Given the description of an element on the screen output the (x, y) to click on. 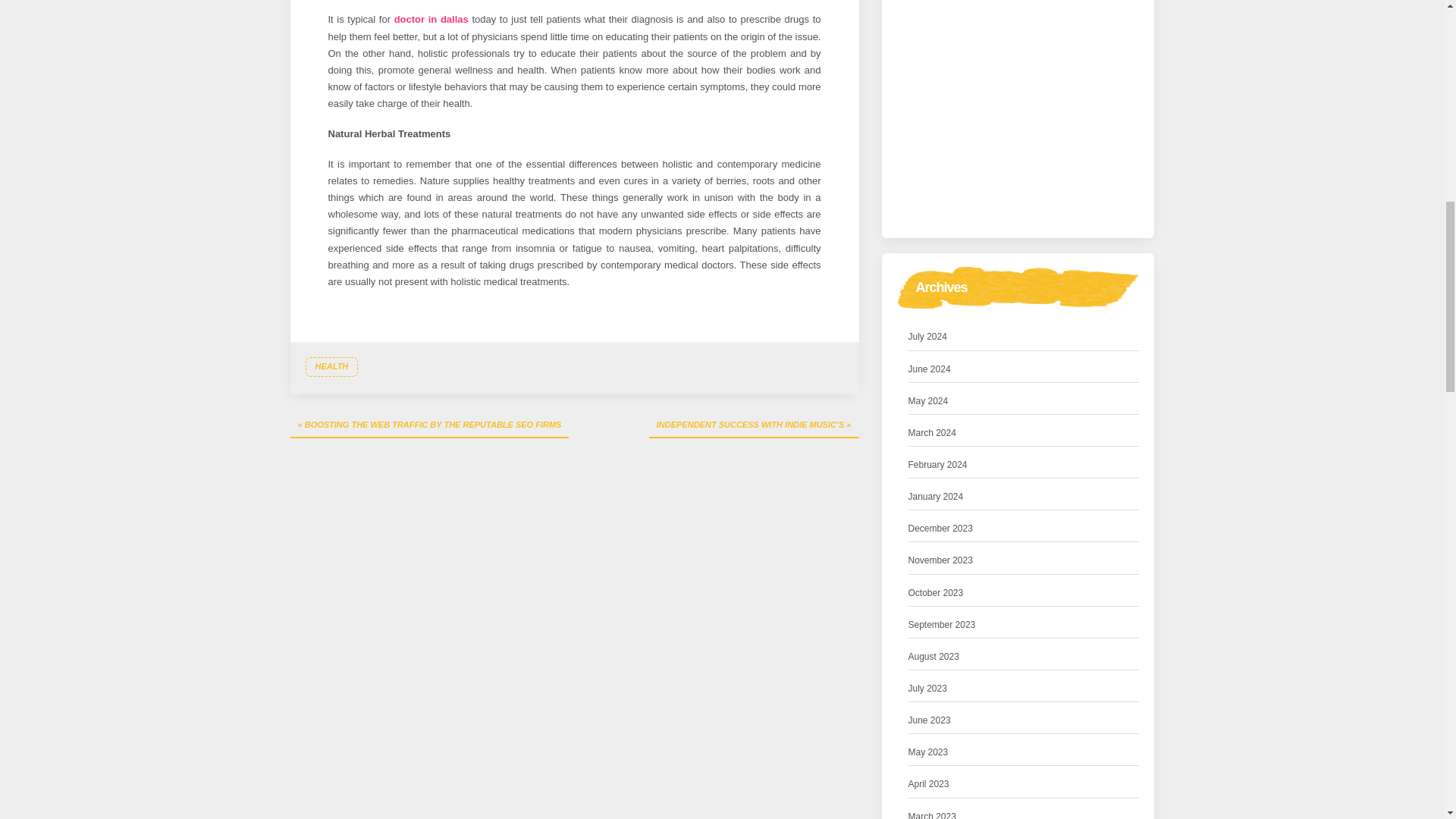
January 2024 (935, 496)
March 2024 (932, 433)
August 2023 (933, 657)
February 2024 (938, 465)
September 2023 (941, 625)
doctor in dallas (431, 19)
December 2023 (940, 528)
October 2023 (935, 593)
July 2024 (927, 336)
November 2023 (940, 560)
June 2024 (929, 369)
March 2023 (932, 814)
May 2024 (928, 401)
May 2023 (928, 752)
June 2023 (929, 720)
